Given the description of an element on the screen output the (x, y) to click on. 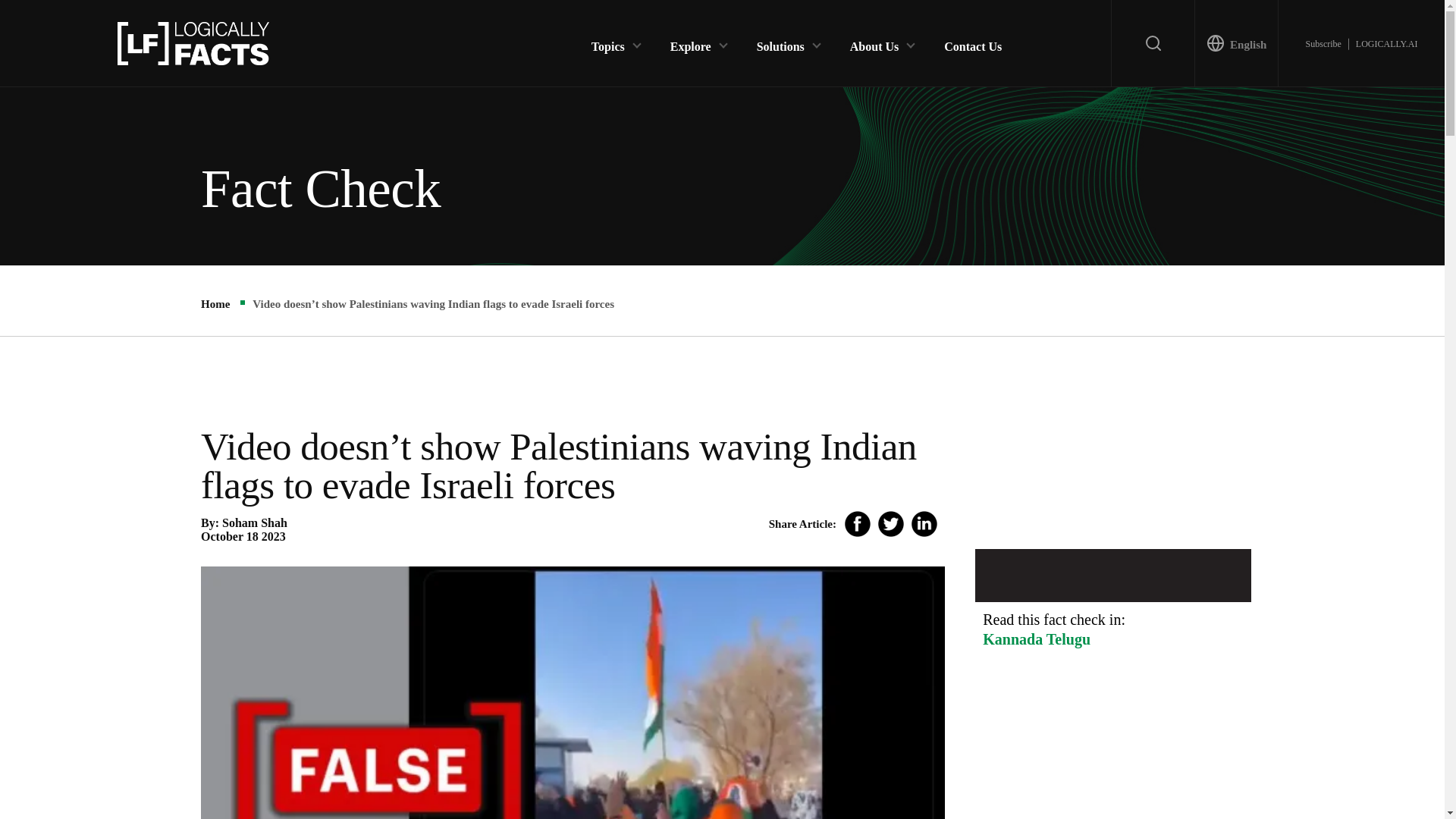
Explore (690, 43)
Subscribe (1323, 43)
Solutions (781, 43)
Home (215, 304)
Topics (607, 43)
Contact Us (972, 43)
About Us (874, 43)
LOGICALLY.AI (1386, 43)
